Given the description of an element on the screen output the (x, y) to click on. 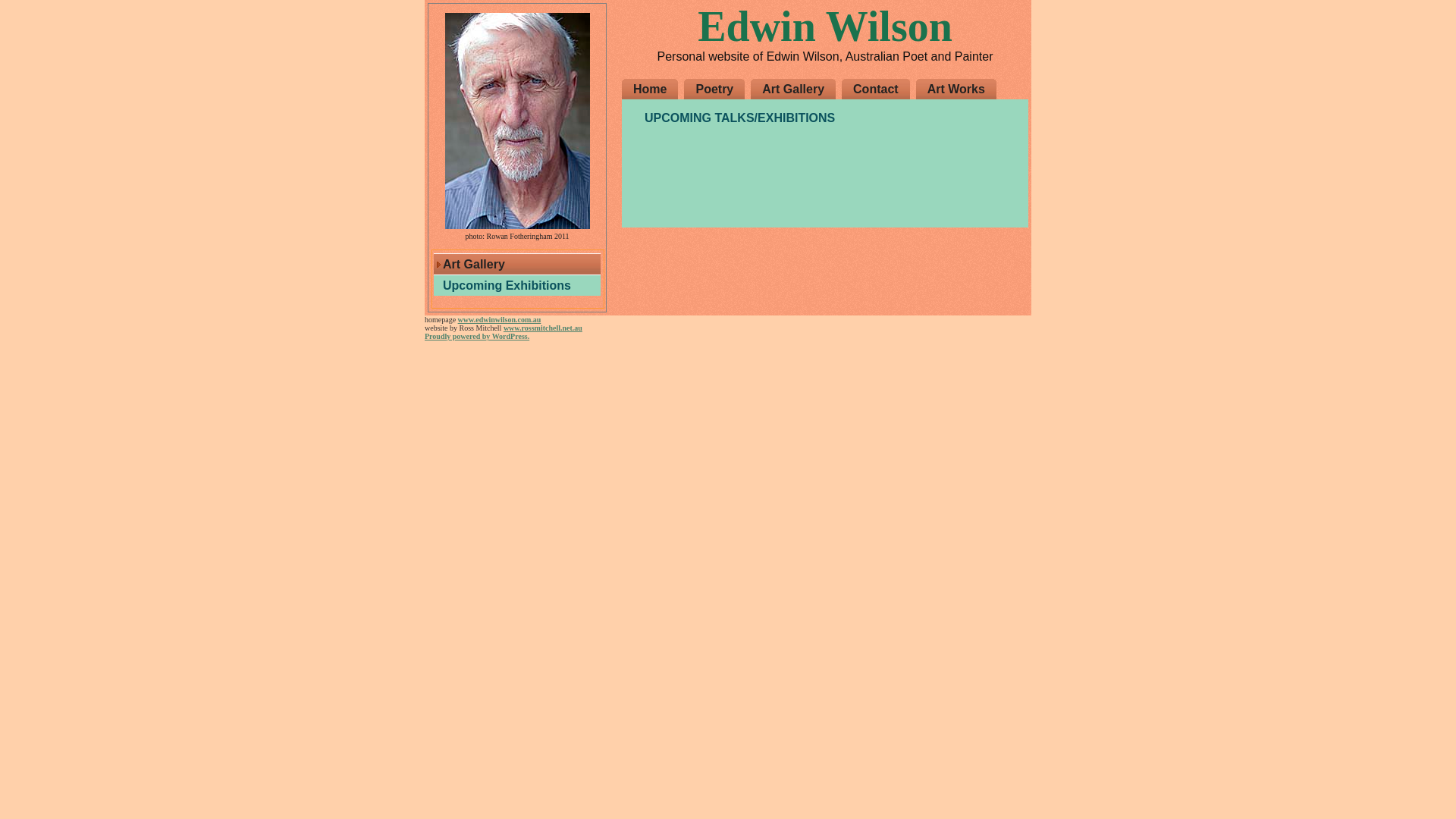
www.rossmitchell.net.au Element type: text (542, 327)
www.edwinwilson.com.au Element type: text (499, 319)
Contact Element type: text (879, 88)
Art Gallery Element type: text (516, 263)
Home Element type: text (652, 88)
Art Gallery Element type: text (796, 88)
Poetry Element type: text (717, 88)
Upcoming Exhibitions Element type: text (516, 284)
Proudly powered by WordPress. Element type: text (476, 336)
Art Works Element type: text (959, 88)
